Given the description of an element on the screen output the (x, y) to click on. 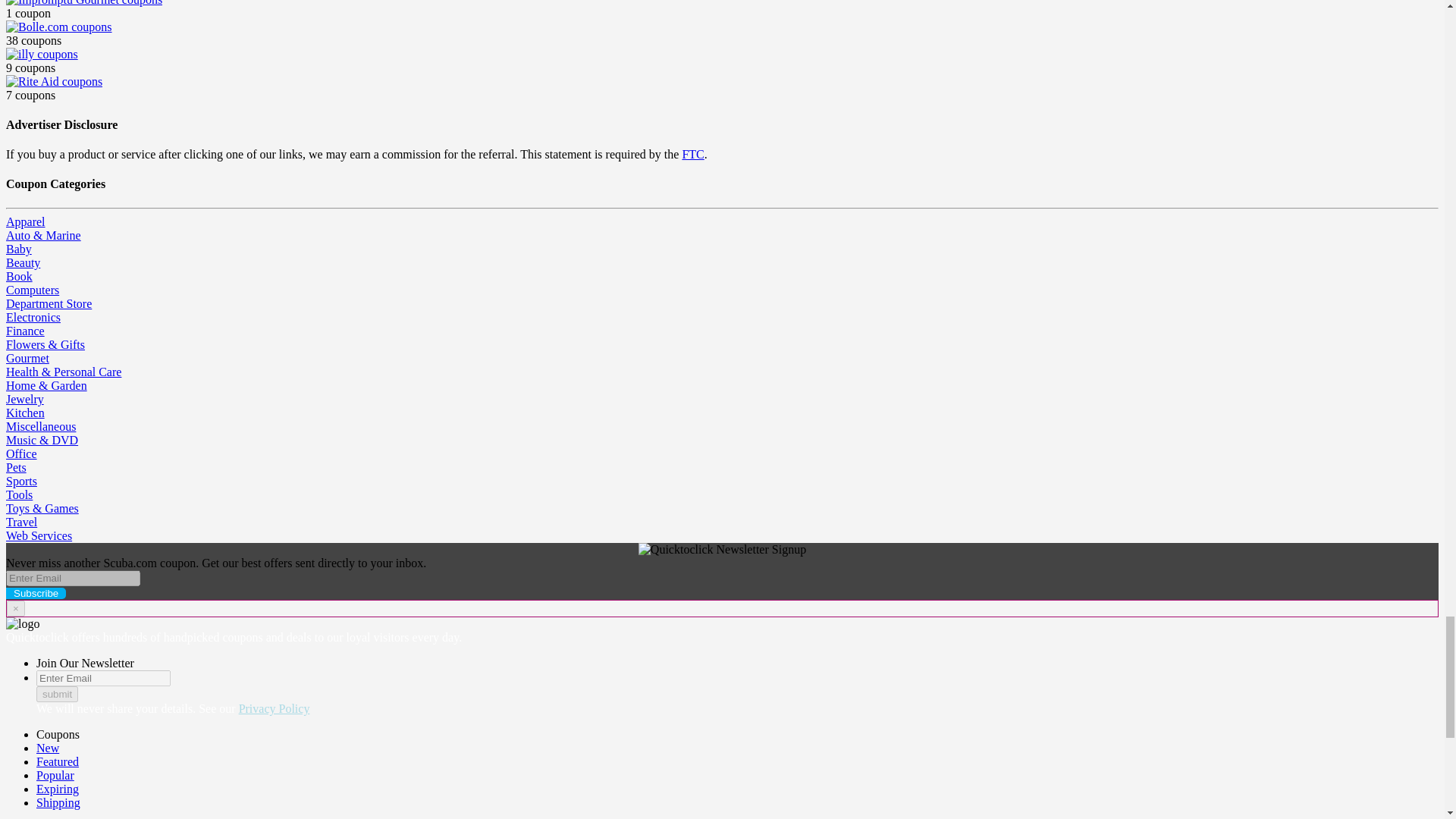
submit (57, 693)
